Given the description of an element on the screen output the (x, y) to click on. 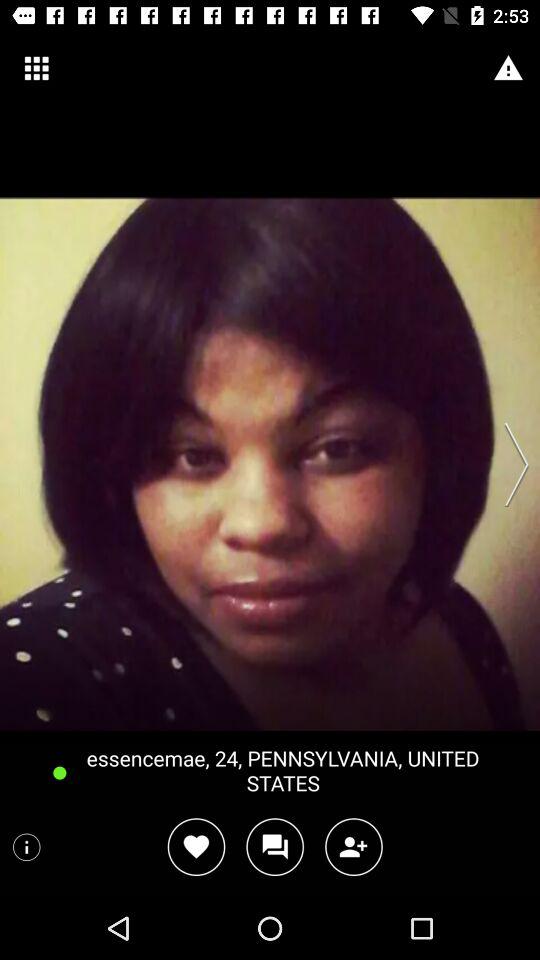
get information (26, 847)
